Given the description of an element on the screen output the (x, y) to click on. 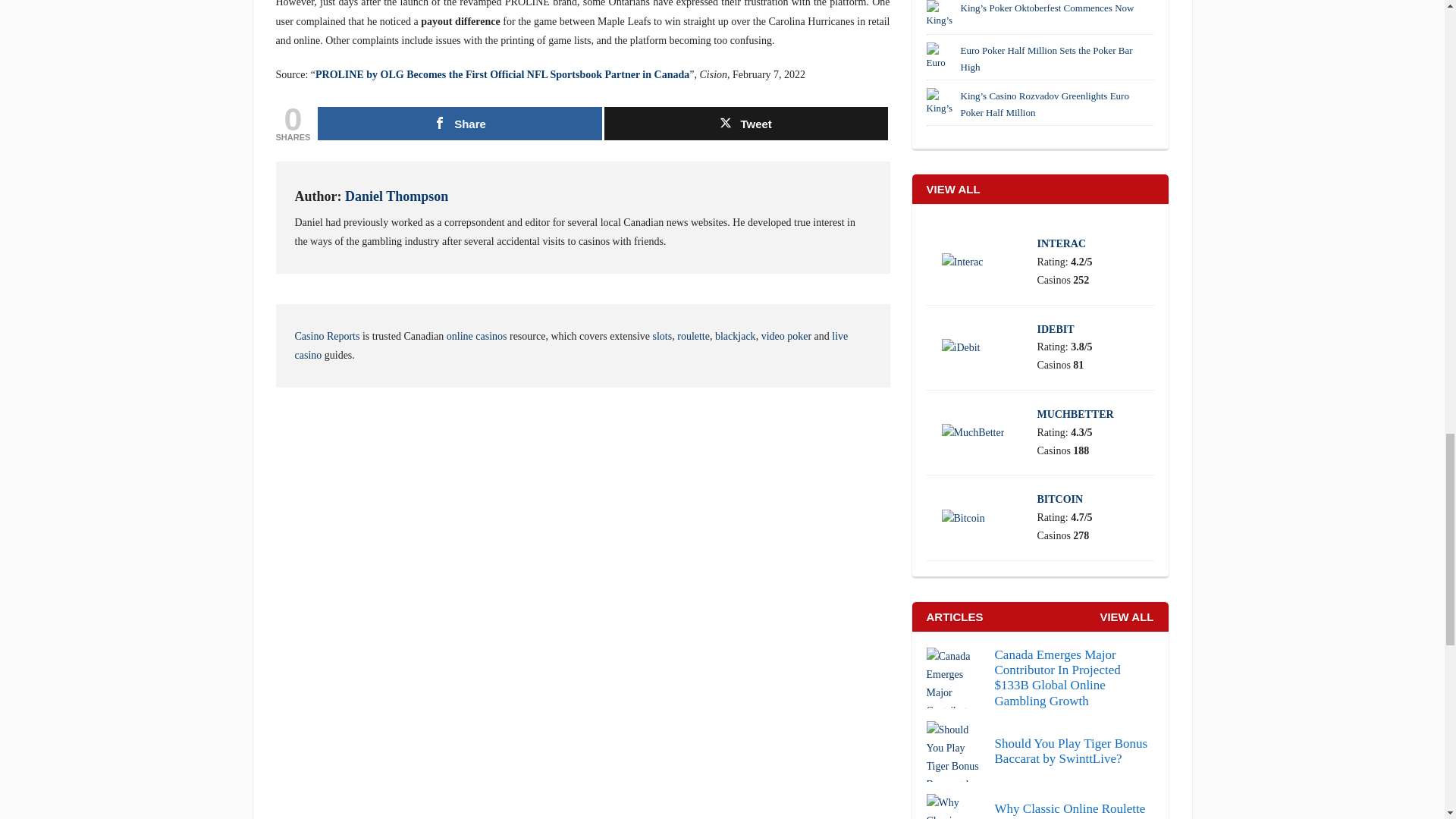
Should You Play Tiger Bonus Baccarat by SwinttLive? (1040, 751)
Euro Poker Half Million Sets the Poker Bar High (941, 57)
